Given the description of an element on the screen output the (x, y) to click on. 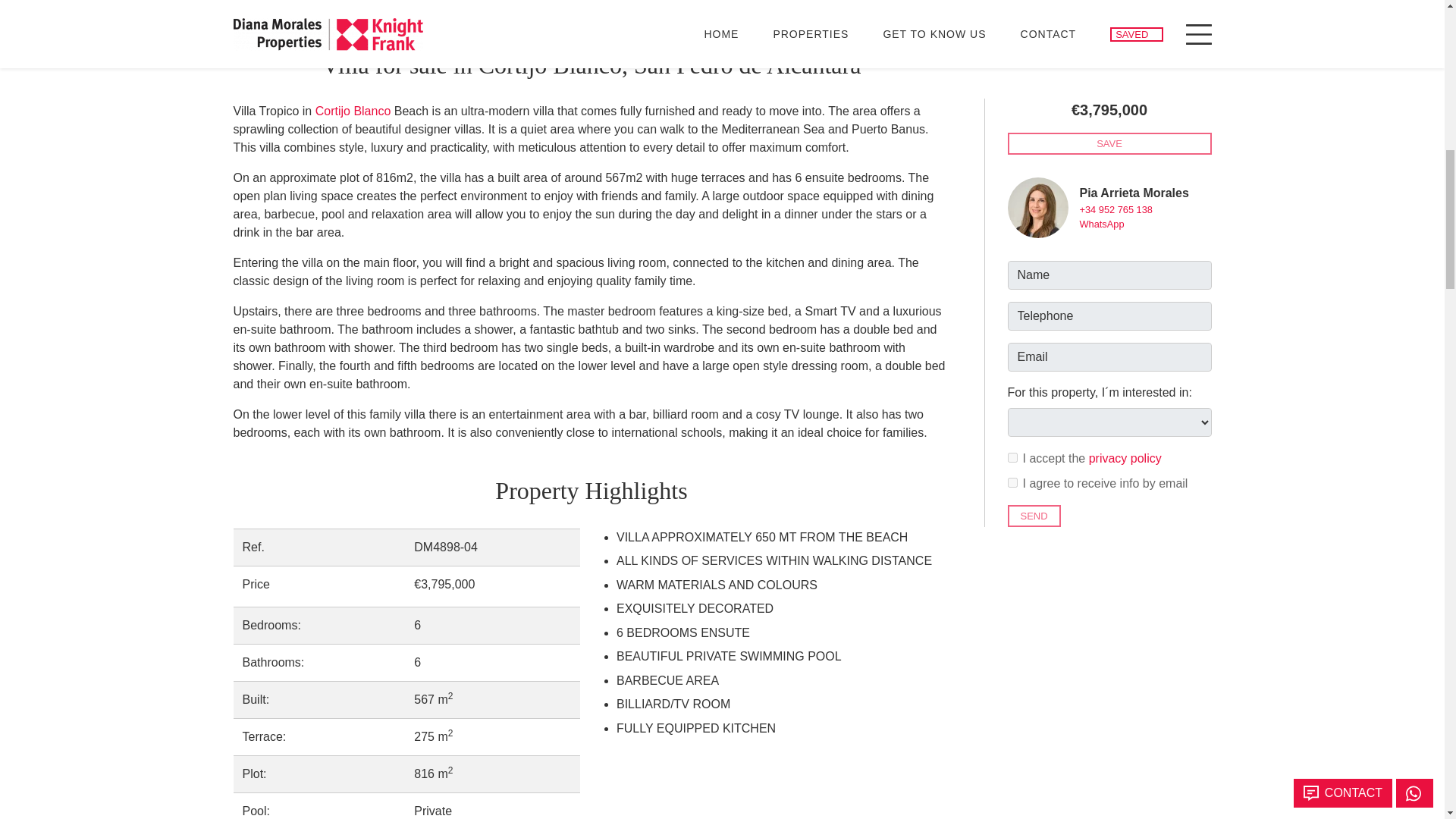
Property for sale in Cortijo Blanco (353, 110)
SEND (1033, 285)
on (1011, 252)
Cortijo Blanco (353, 110)
on (1011, 226)
privacy policy (1125, 227)
